Given the description of an element on the screen output the (x, y) to click on. 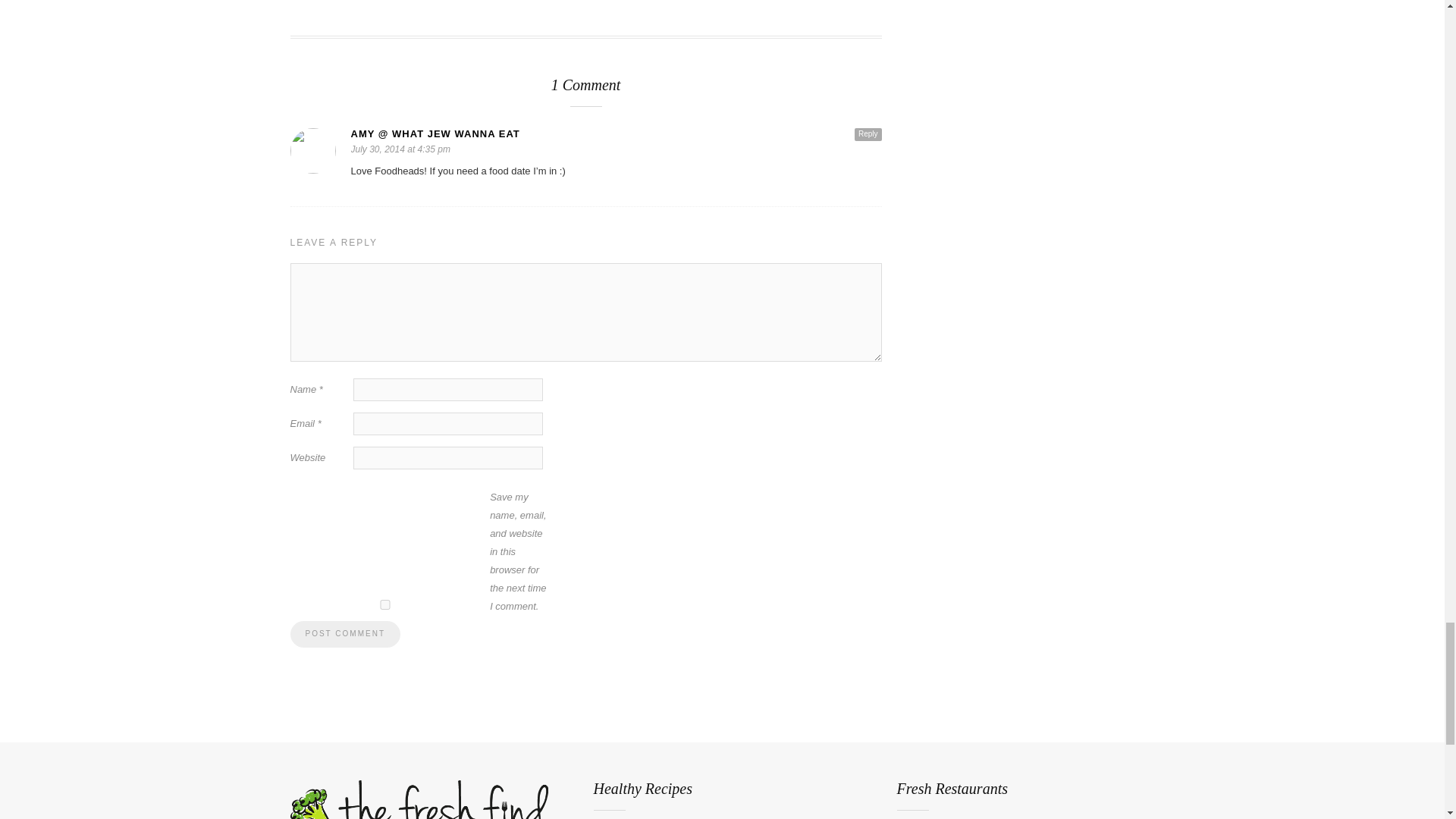
Post Comment (343, 633)
yes (384, 604)
